Given the description of an element on the screen output the (x, y) to click on. 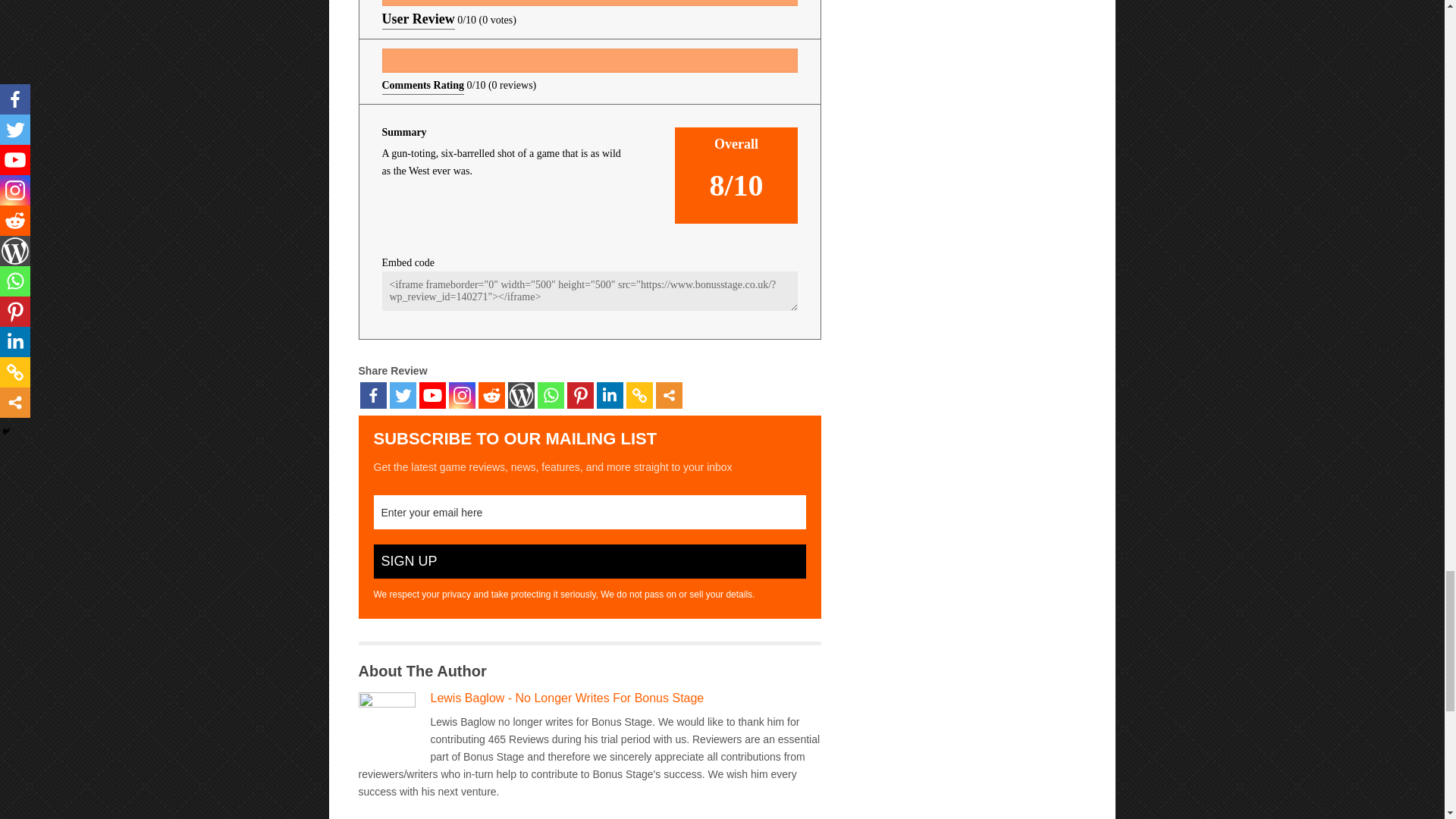
Sign Up (588, 561)
